Given the description of an element on the screen output the (x, y) to click on. 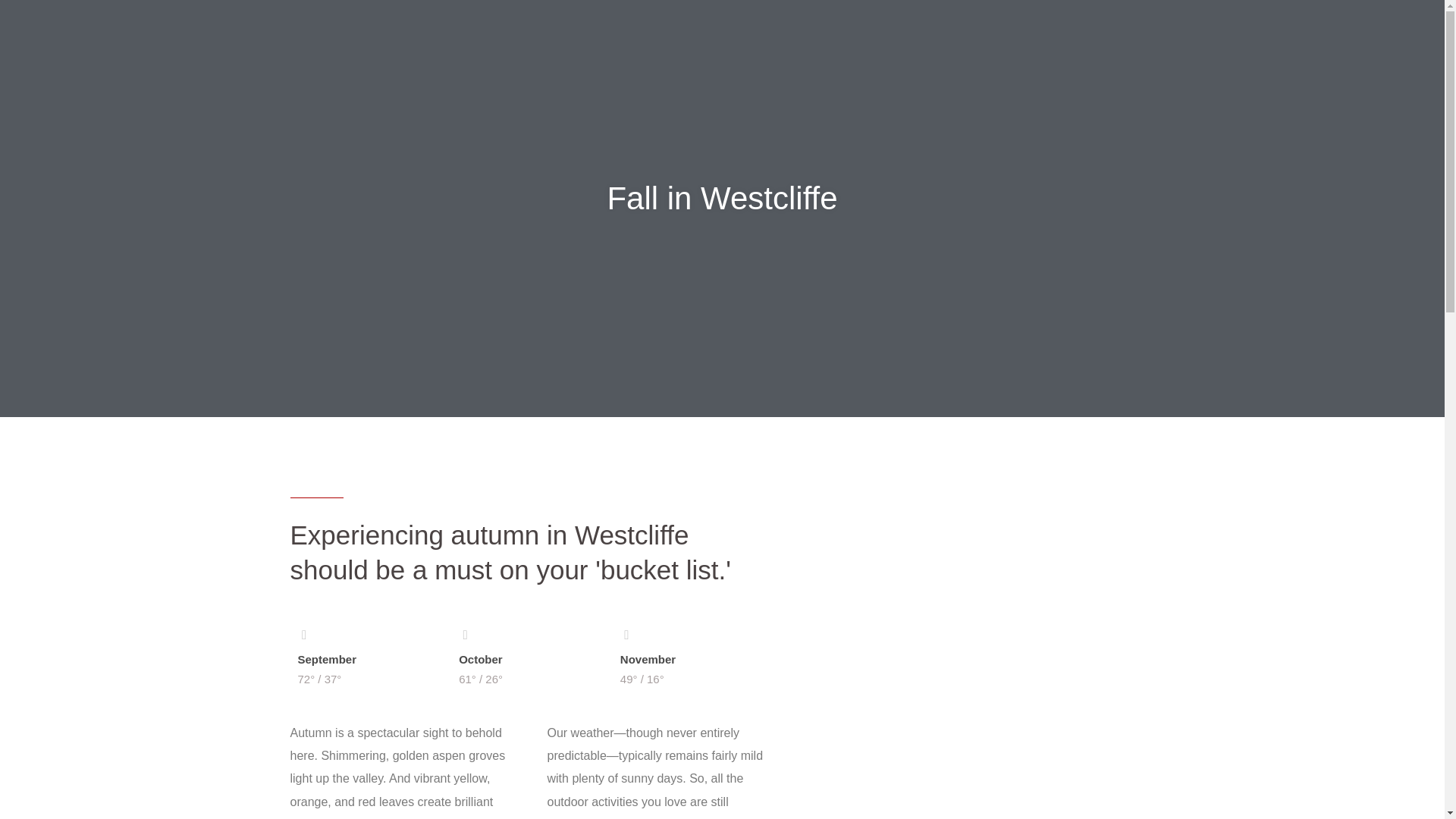
About (593, 28)
Get in touch (989, 28)
Properties (742, 28)
Westcliffe (662, 28)
